Given the description of an element on the screen output the (x, y) to click on. 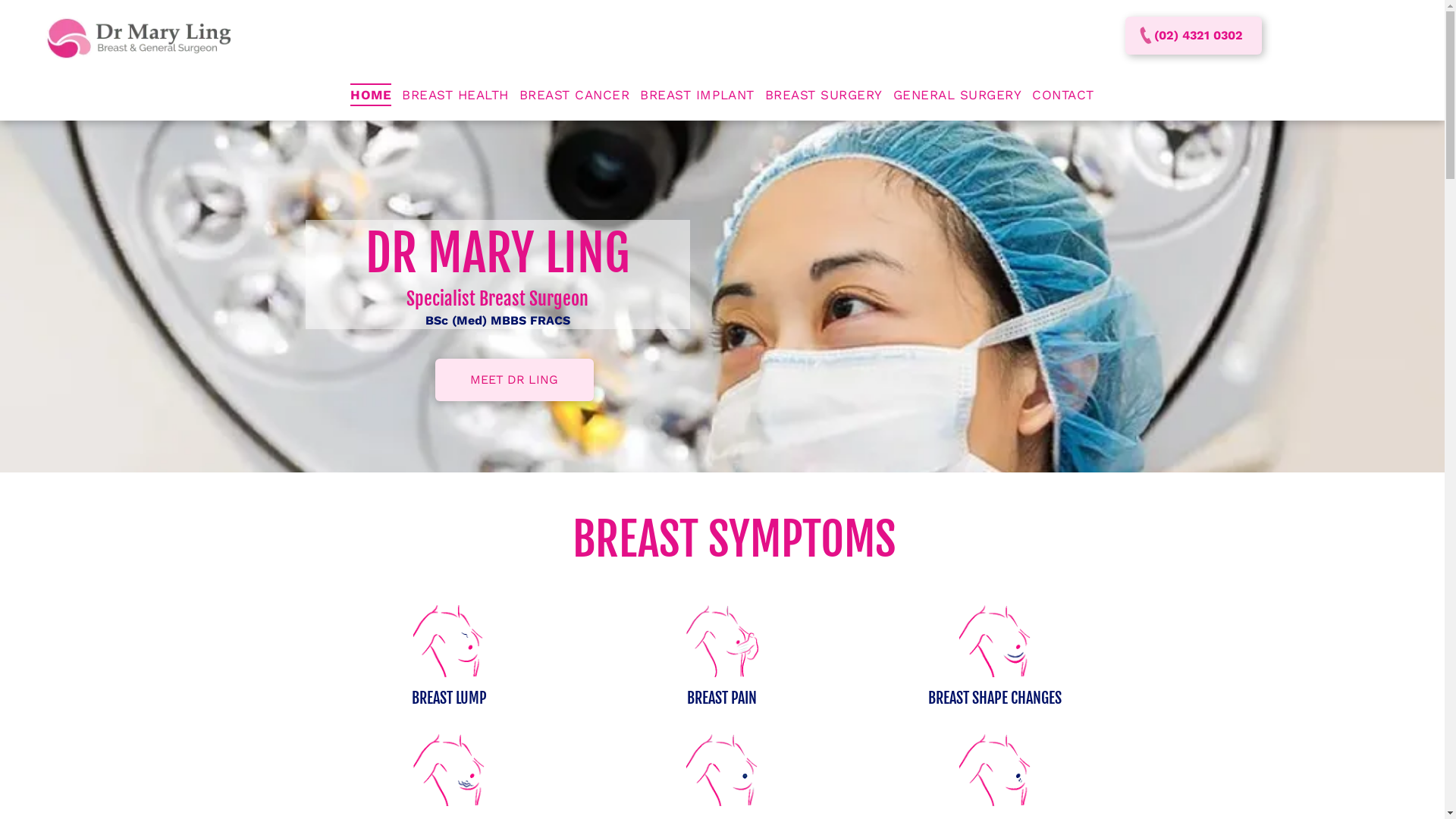
HOME Element type: text (370, 94)
BREAST CANCER Element type: text (574, 94)
(02) 4321 0302 Element type: text (1193, 35)
GENERAL SURGERY Element type: text (957, 94)
BREAST HEALTH Element type: text (455, 94)
BREAST IMPLANT Element type: text (696, 94)
BREAST SURGERY Element type: text (823, 94)
CONTACT Element type: text (1062, 94)
MEET DR LING Element type: text (514, 379)
